Given the description of an element on the screen output the (x, y) to click on. 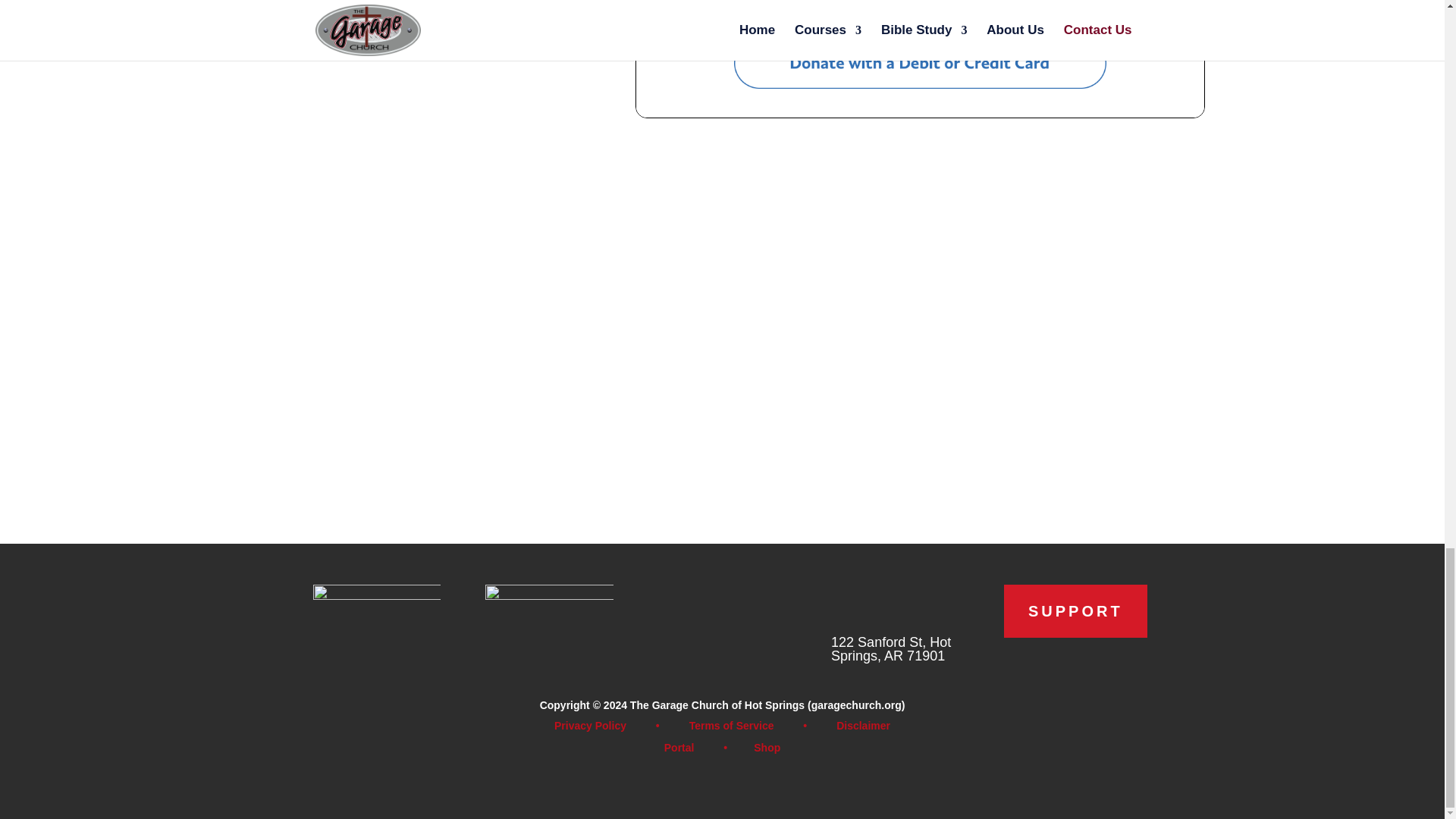
122 Sanford St, Hot Springs, AR 71901 (890, 648)
Give to Garage Church in Hot Spirngs Arkansas (920, 58)
Terms of Service (731, 725)
Disclaimer (862, 725)
SUPPORT (1075, 611)
2 (548, 616)
Shop (767, 747)
1 (376, 616)
Portal (678, 747)
Privacy Policy (590, 725)
